Given the description of an element on the screen output the (x, y) to click on. 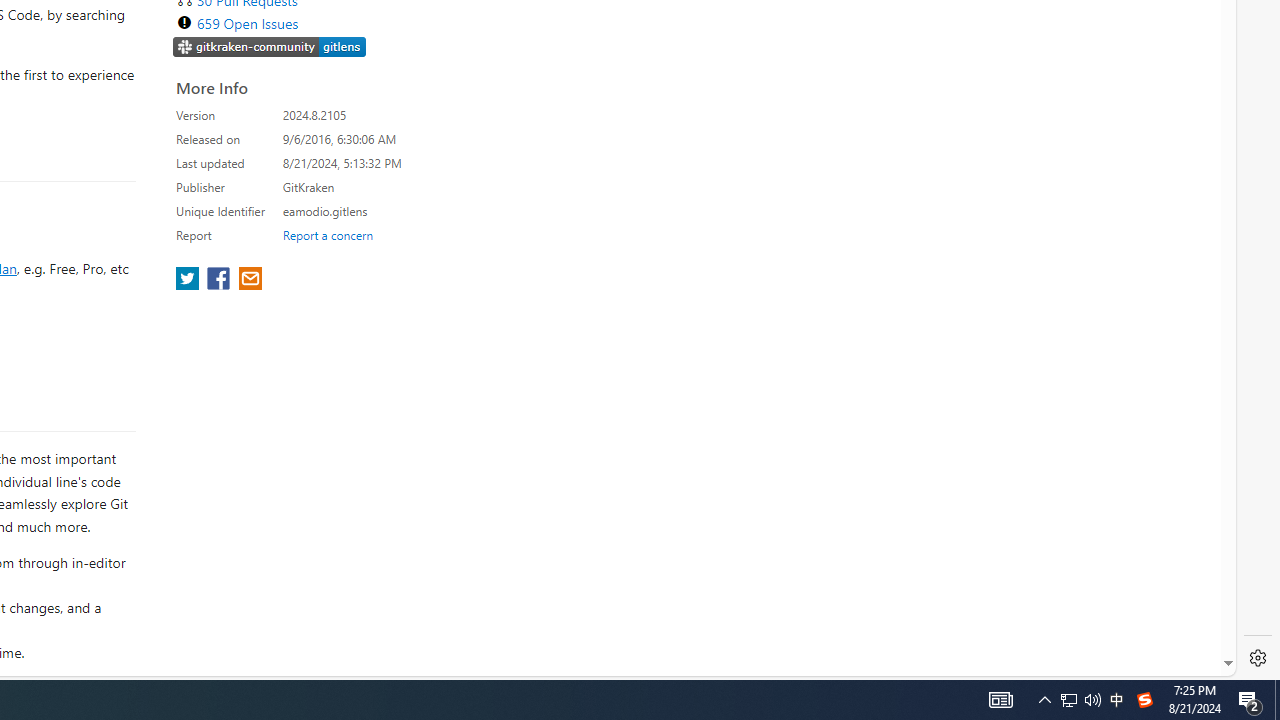
share extension on facebook (220, 280)
https://slack.gitkraken.com// (269, 48)
share extension on email (249, 280)
https://slack.gitkraken.com// (269, 46)
Report a concern (327, 234)
share extension on twitter (190, 280)
